Given the description of an element on the screen output the (x, y) to click on. 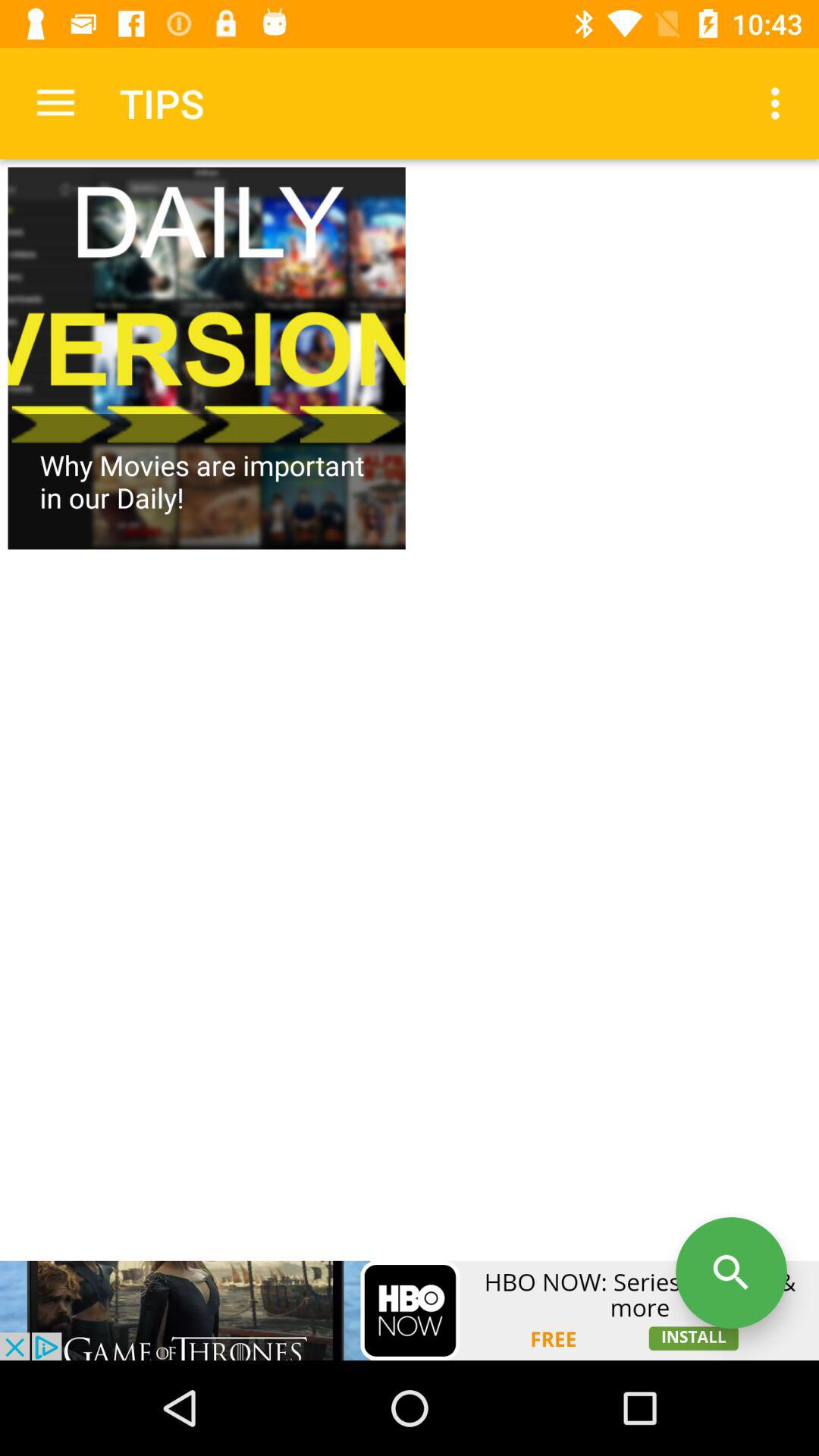
search within site (731, 1272)
